Given the description of an element on the screen output the (x, y) to click on. 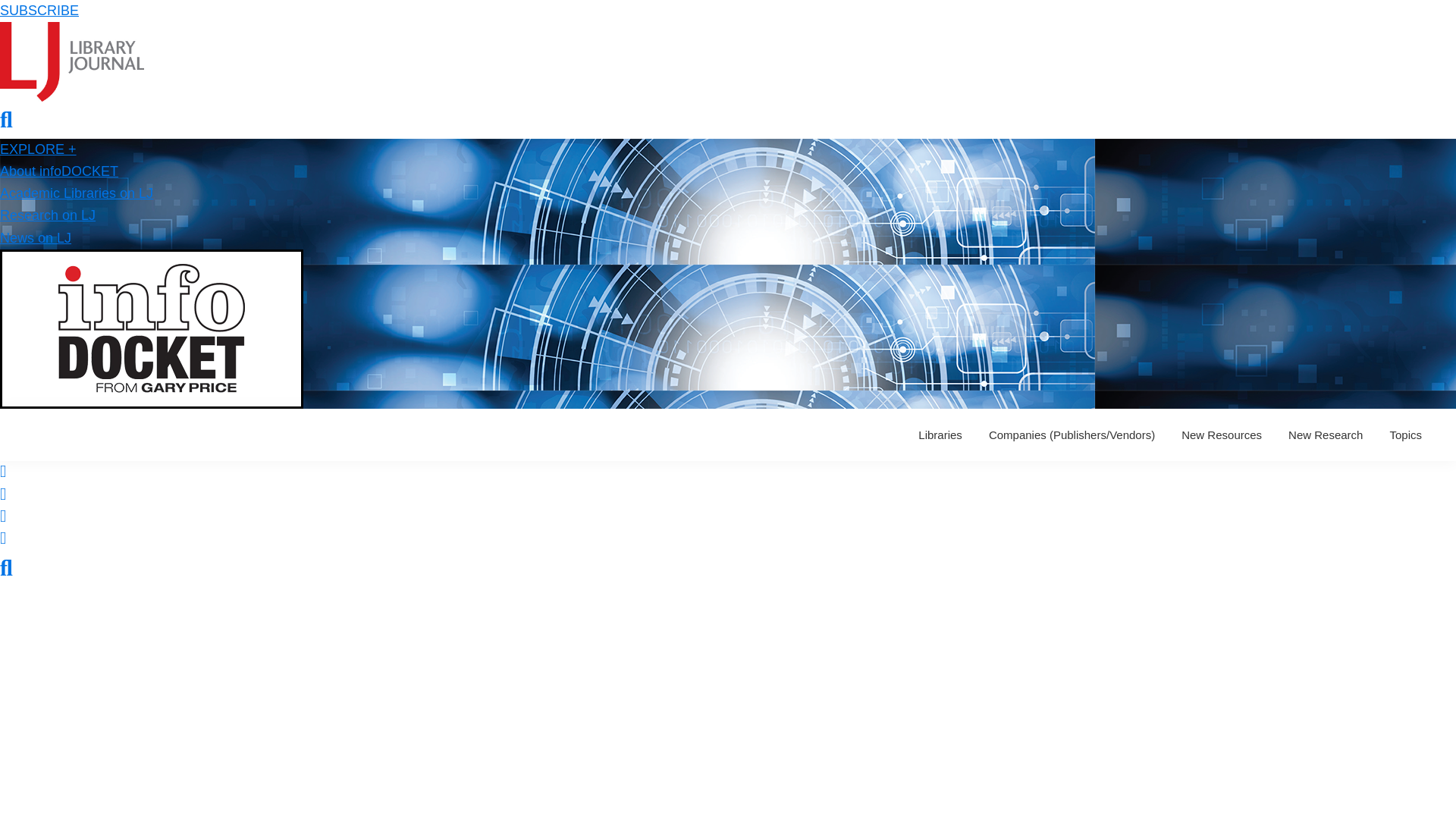
About infoDOCKET (58, 171)
Libraries (940, 434)
SUBSCRIBE (39, 10)
New Research (1325, 434)
News on LJ (35, 237)
Academic Libraries on LJ (76, 192)
Research on LJ (48, 215)
New Resources (1221, 434)
